Given the description of an element on the screen output the (x, y) to click on. 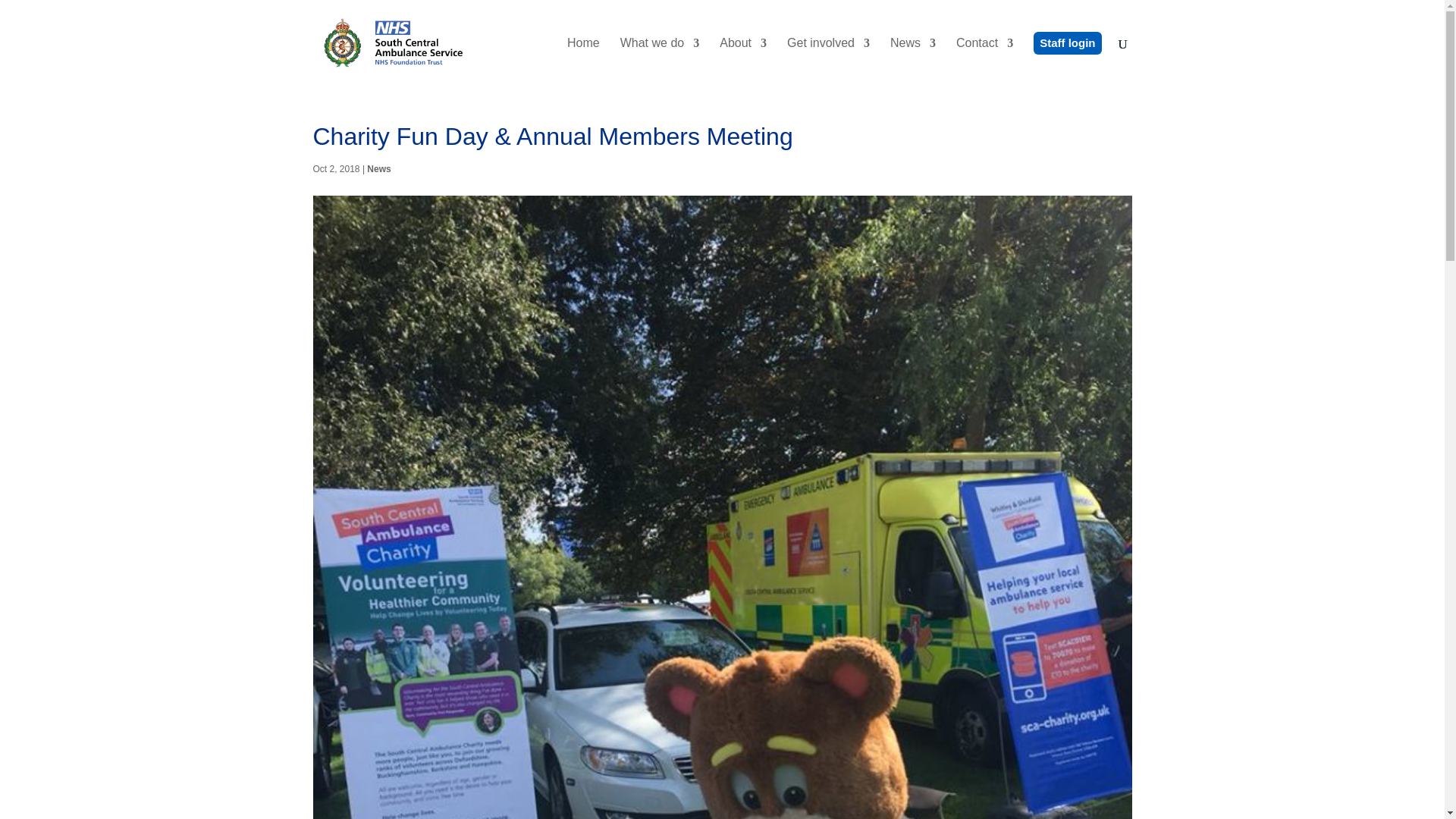
Get involved (828, 61)
About (743, 61)
What we do (659, 61)
